Given the description of an element on the screen output the (x, y) to click on. 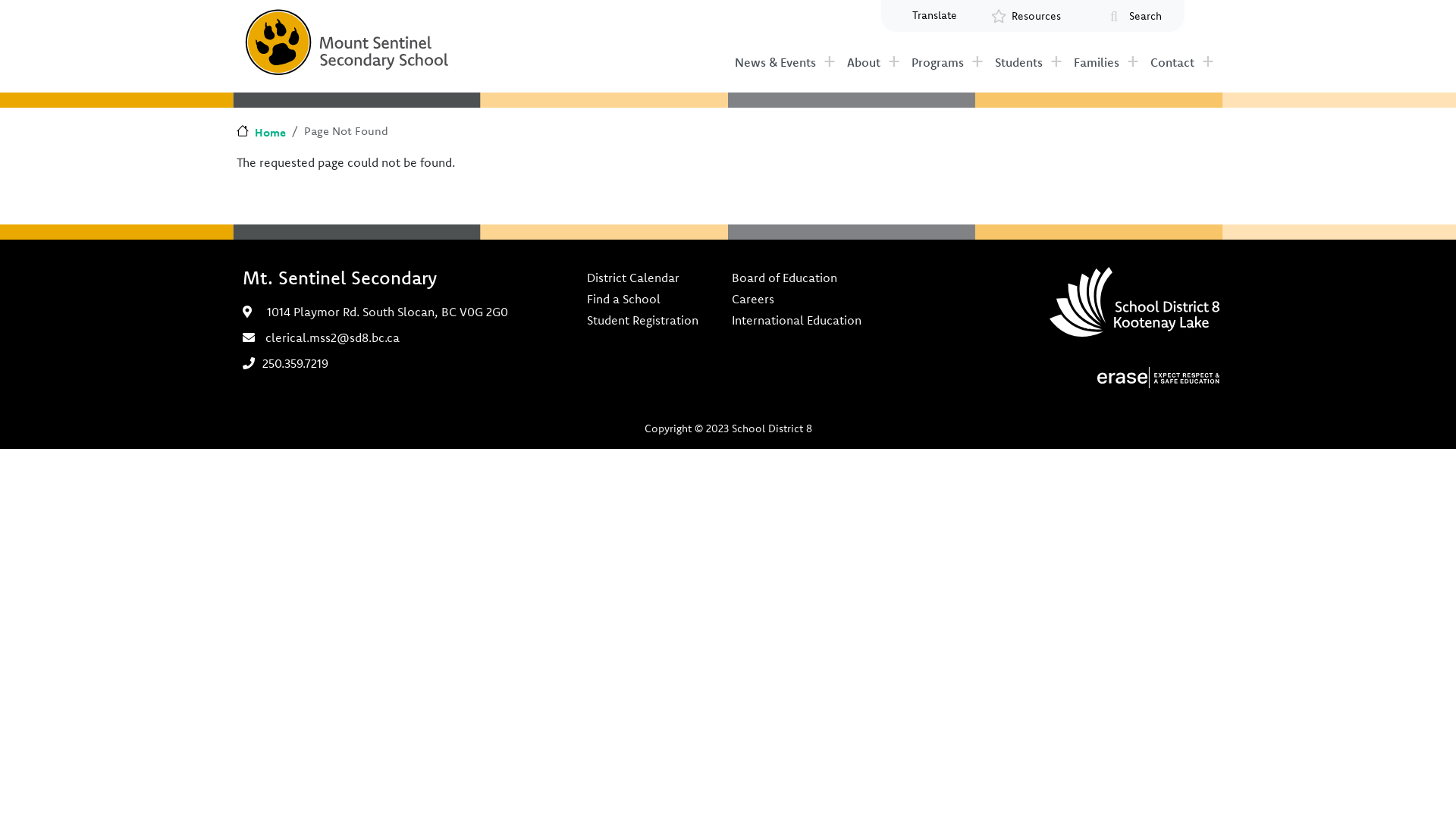
Board of Education Element type: text (796, 277)
250.359.7219 Element type: text (295, 362)
International Education Element type: text (796, 319)
Find a School Element type: text (642, 298)
Resources Element type: text (1036, 16)
Home Element type: text (260, 132)
Student Registration Element type: text (642, 319)
clerical.mss2@sd8.bc.ca Element type: text (332, 337)
Translate Element type: text (933, 15)
District Calendar Element type: text (642, 277)
Careers Element type: text (796, 298)
Search Element type: text (1145, 15)
